Given the description of an element on the screen output the (x, y) to click on. 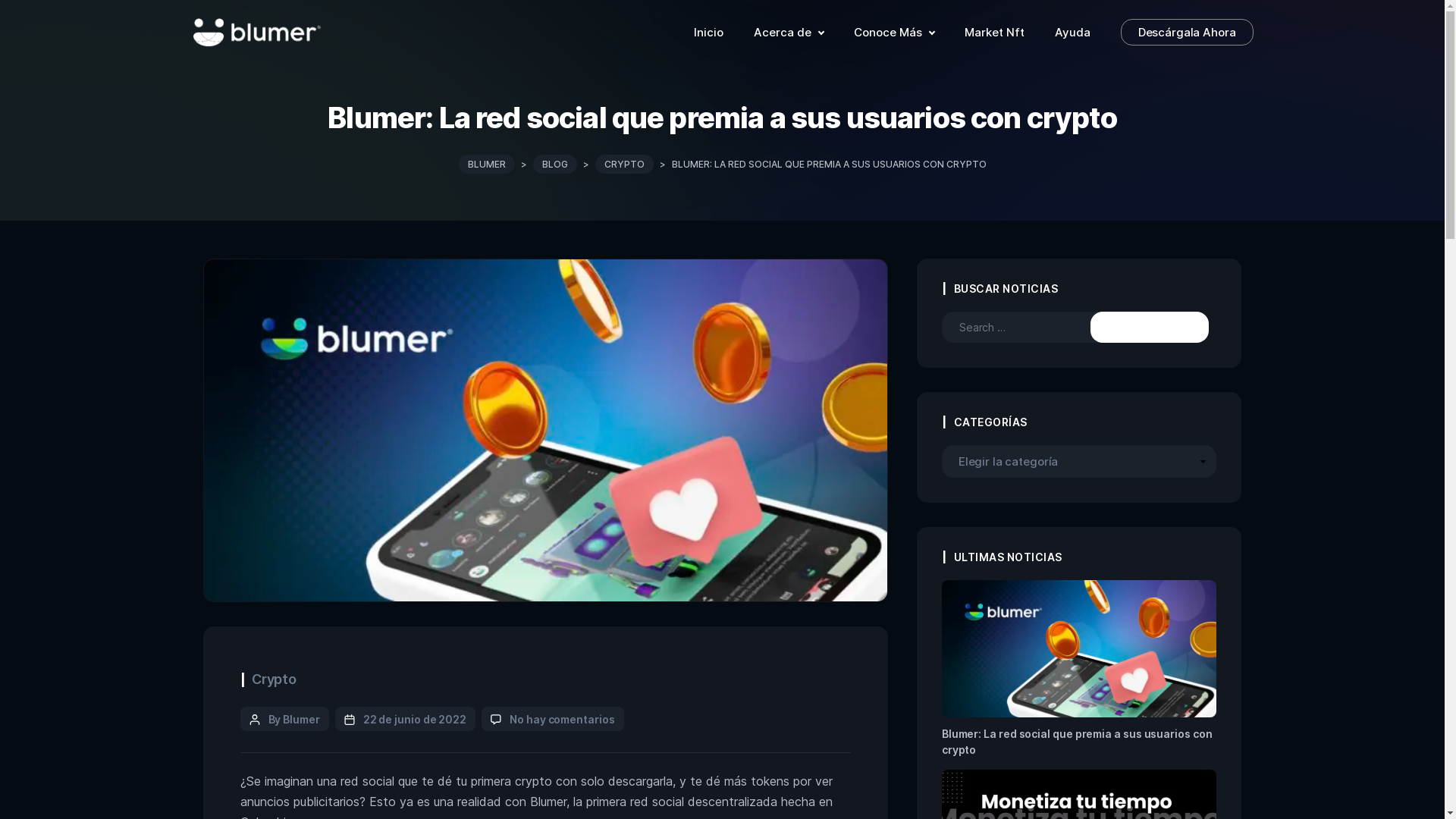
CRYPTO Element type: text (623, 163)
Market Nft Element type: text (994, 31)
Inicio Element type: text (708, 31)
Crypto Element type: text (273, 679)
No hay comentarios Element type: text (562, 718)
BLOG Element type: text (554, 163)
Acerca de Element type: text (788, 31)
Ayuda Element type: text (1072, 31)
Search Element type: text (1149, 326)
Blumer: La red social que premia a sus usuarios con crypto Element type: text (1079, 698)
BLUMER Element type: text (486, 163)
Search for: Element type: hover (1029, 326)
By Blumer Element type: text (294, 718)
